Given the description of an element on the screen output the (x, y) to click on. 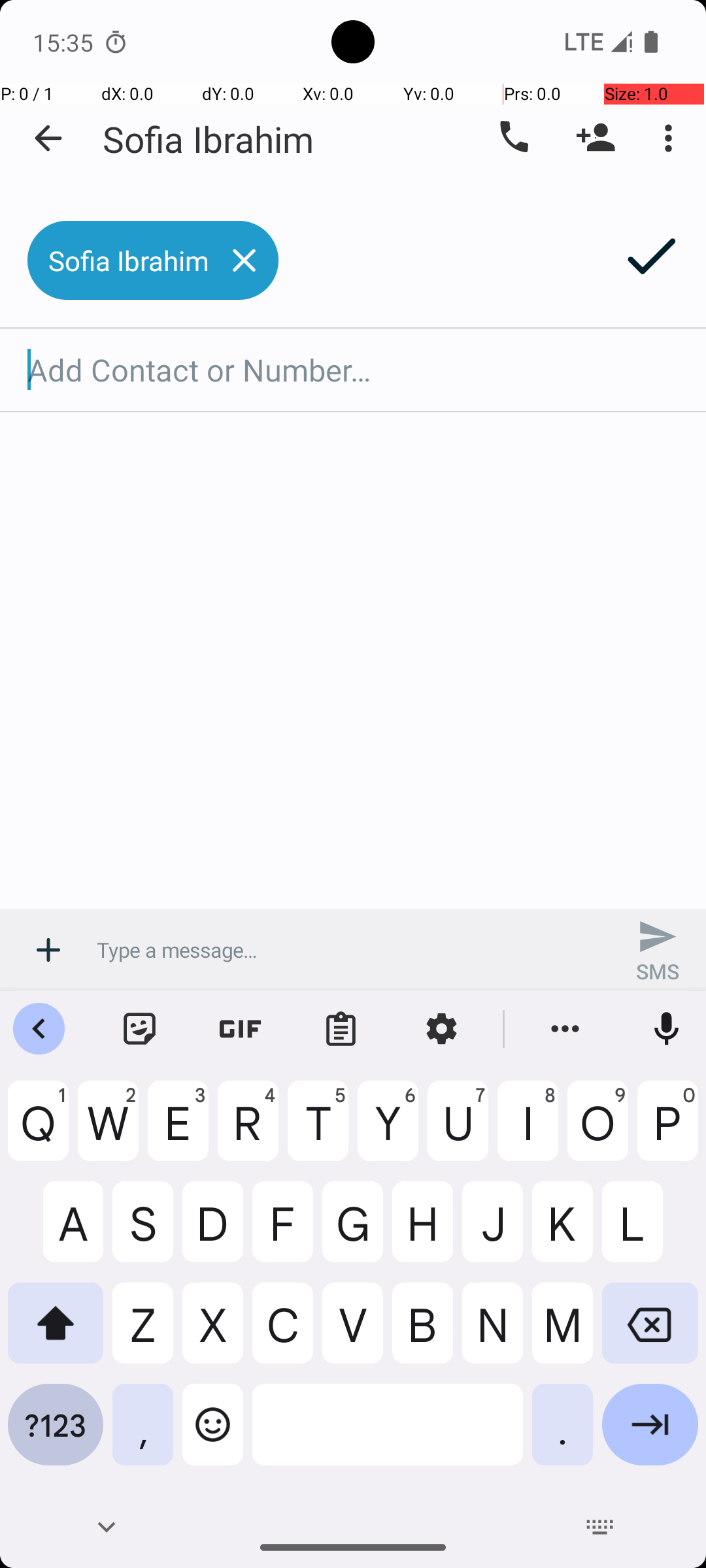
Sofia Ibrahim Element type: android.widget.TextView (207, 138)
